Given the description of an element on the screen output the (x, y) to click on. 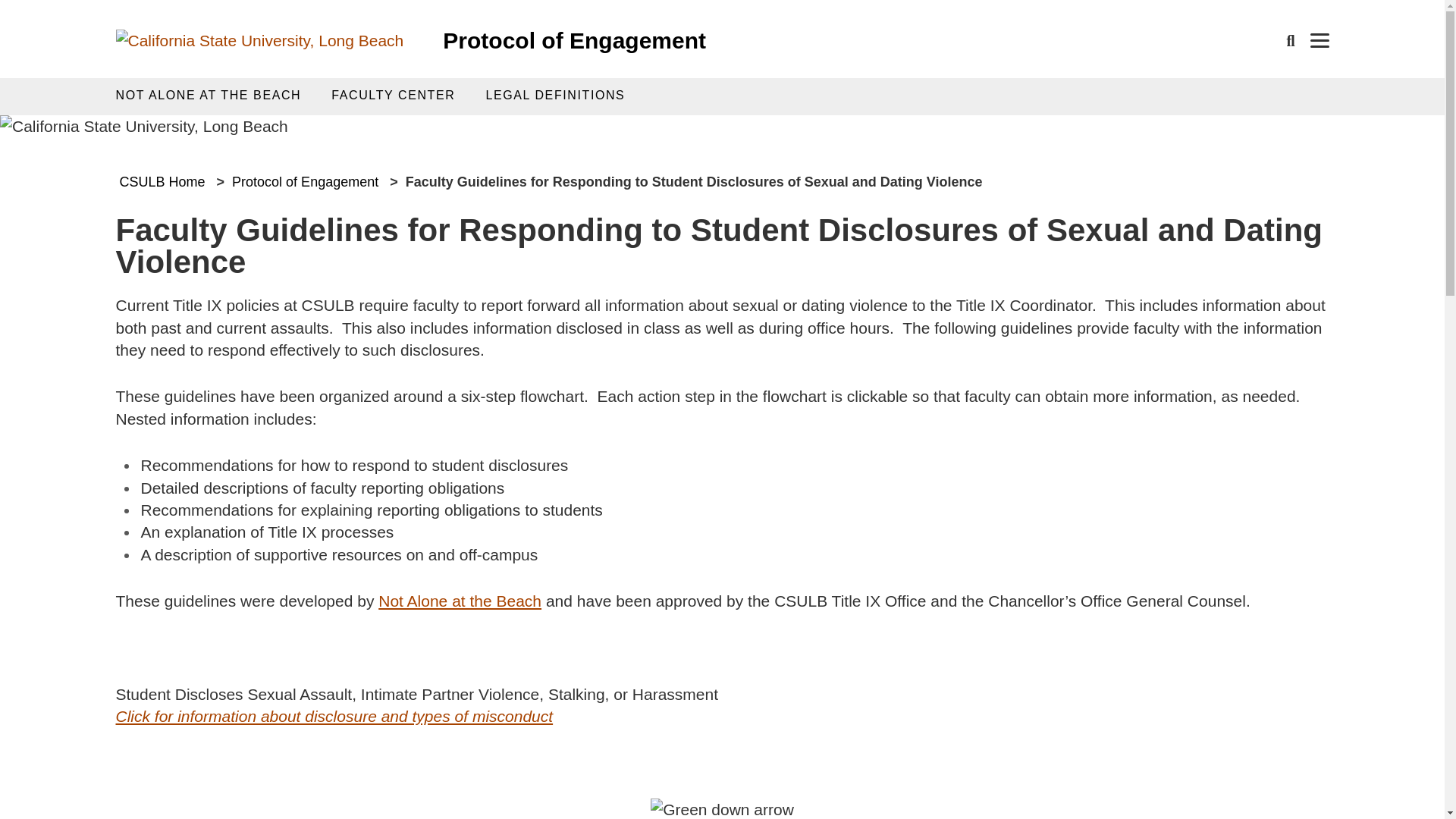
Protocol of Engagement (574, 39)
green-down-arrow.png (721, 808)
